Given the description of an element on the screen output the (x, y) to click on. 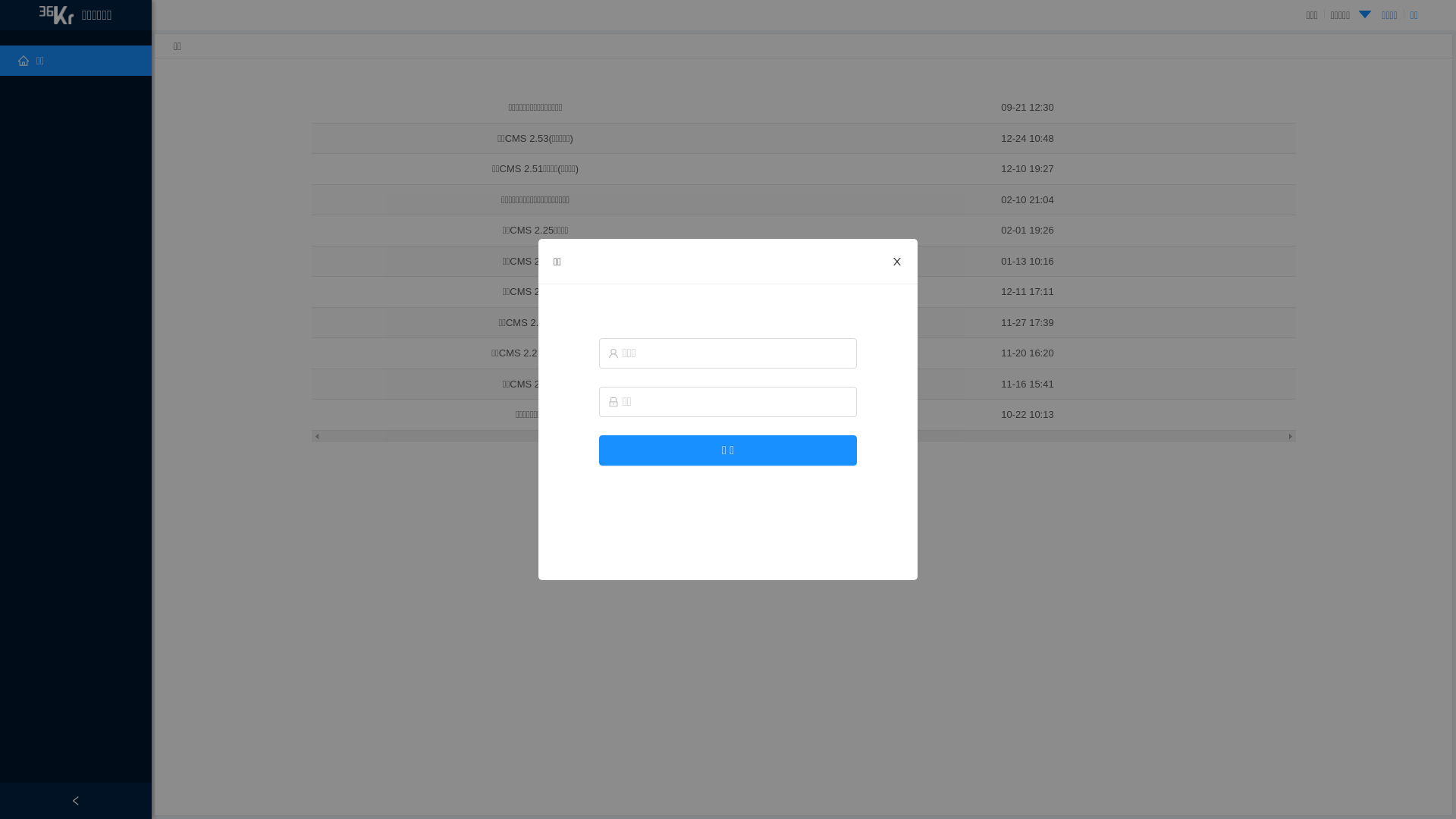
1 Element type: text (789, 480)
